Given the description of an element on the screen output the (x, y) to click on. 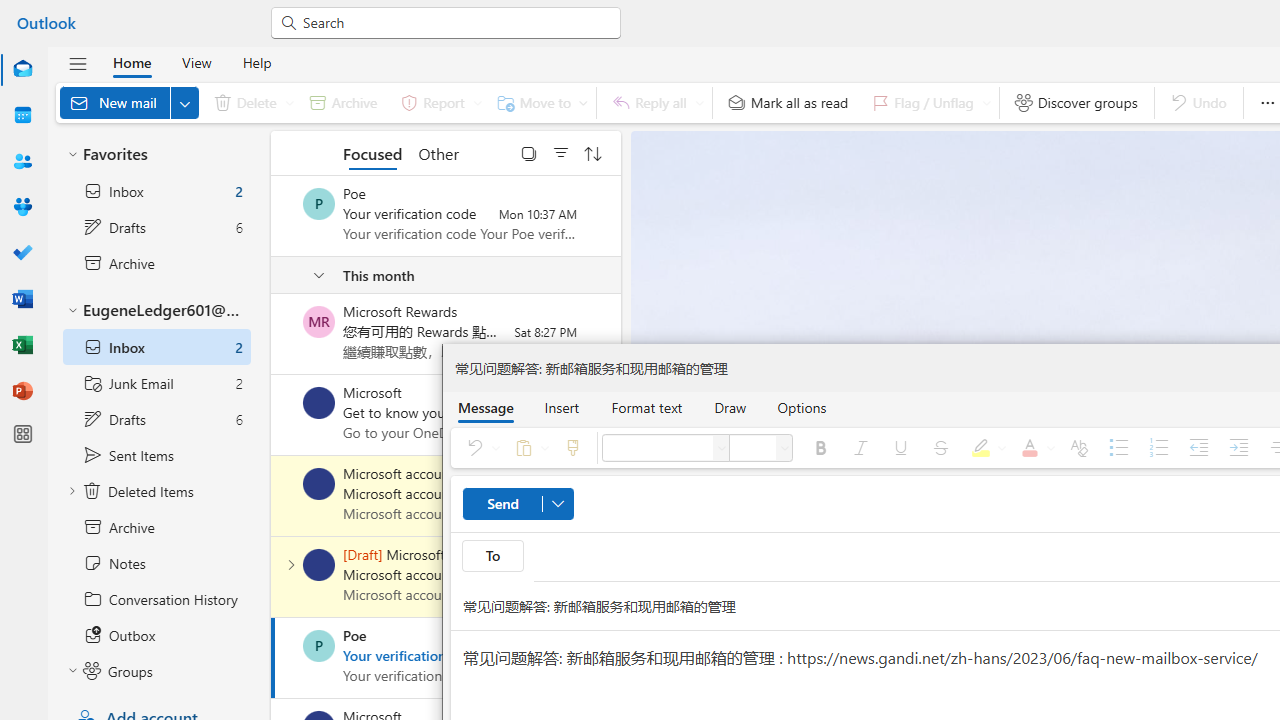
Font color (1033, 447)
Expand to see more report options (477, 102)
Select (529, 152)
Select a conversation (319, 645)
Mail (22, 69)
Bold (820, 447)
People (22, 161)
PowerPoint (22, 390)
Insert (561, 407)
Font (657, 448)
Delete (250, 102)
To (492, 555)
Paste (528, 447)
Send (518, 503)
